Given the description of an element on the screen output the (x, y) to click on. 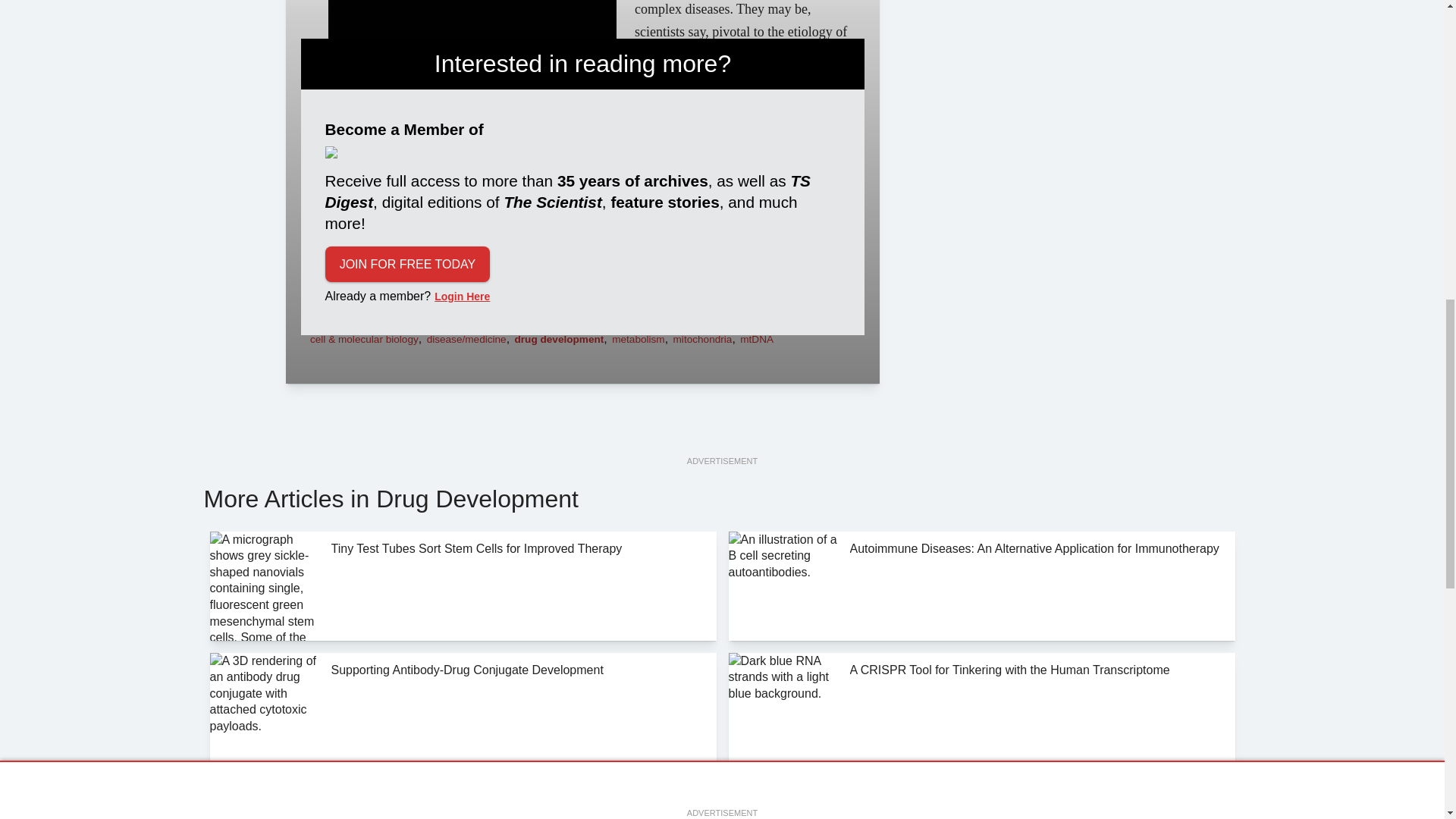
An illustration of a B cell secreting autoantibodies. (782, 585)
Dark blue RNA strands with a light blue background. (782, 707)
